Given the description of an element on the screen output the (x, y) to click on. 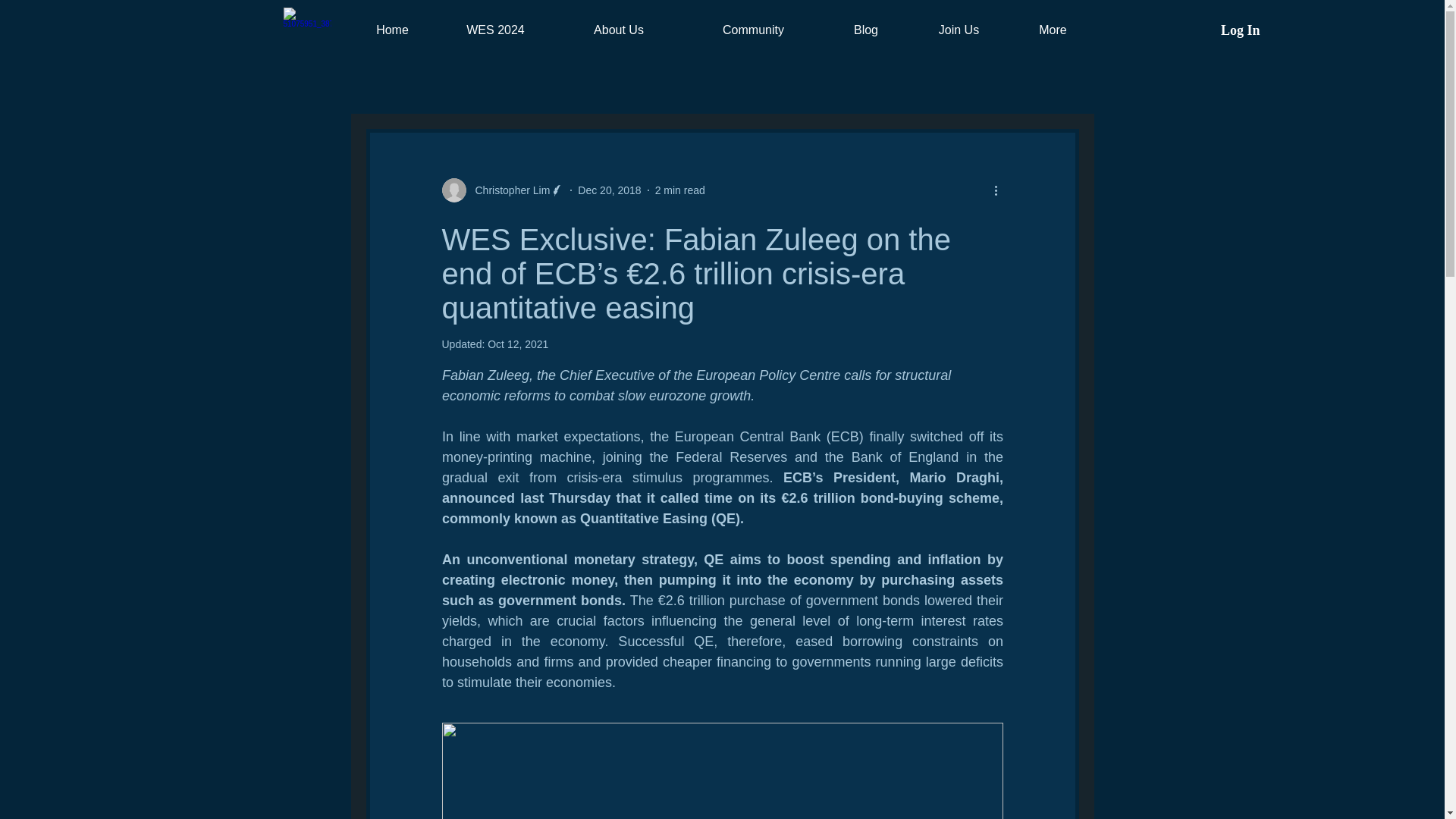
Join Us (957, 29)
WES 2024 (494, 29)
2 min read (679, 189)
Log In (1240, 30)
Christopher Lim (507, 189)
Dec 20, 2018 (609, 189)
Christopher Lim (502, 190)
Oct 12, 2021 (517, 344)
Blog (865, 29)
Home (391, 29)
